Given the description of an element on the screen output the (x, y) to click on. 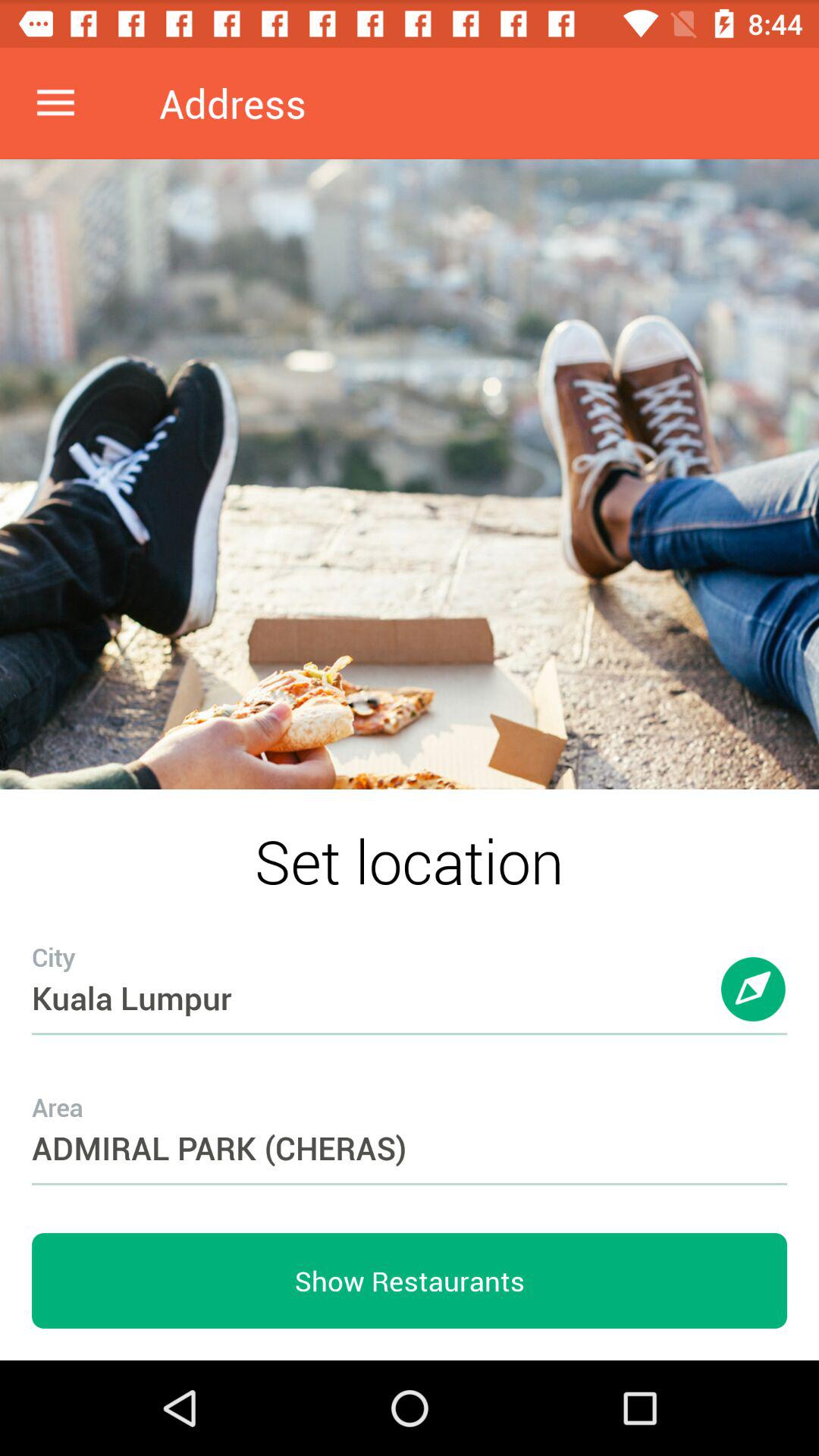
use location (754, 1004)
